Given the description of an element on the screen output the (x, y) to click on. 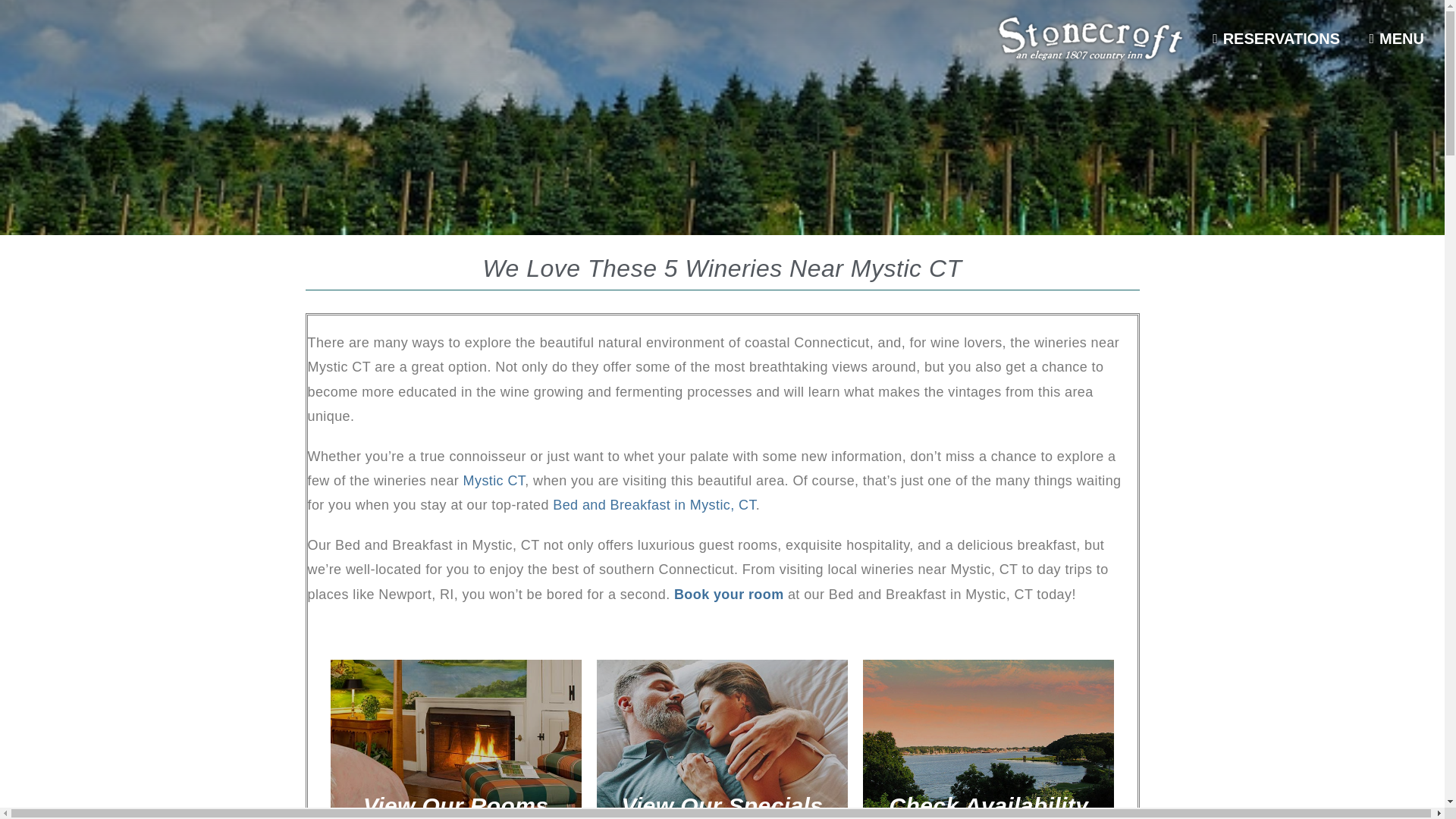
We Love These 5 Wineries Near Mystic CT 2 (721, 739)
View Our Rooms (455, 739)
Check Availability (988, 739)
We Love These 5 Wineries Near Mystic CT 1 (455, 739)
Mystic CT (494, 480)
View Our Specials (721, 739)
Book your room (729, 594)
We Love These 5 Wineries Near Mystic CT 3 (988, 739)
Bed and Breakfast in Mystic, CT (654, 504)
